Given the description of an element on the screen output the (x, y) to click on. 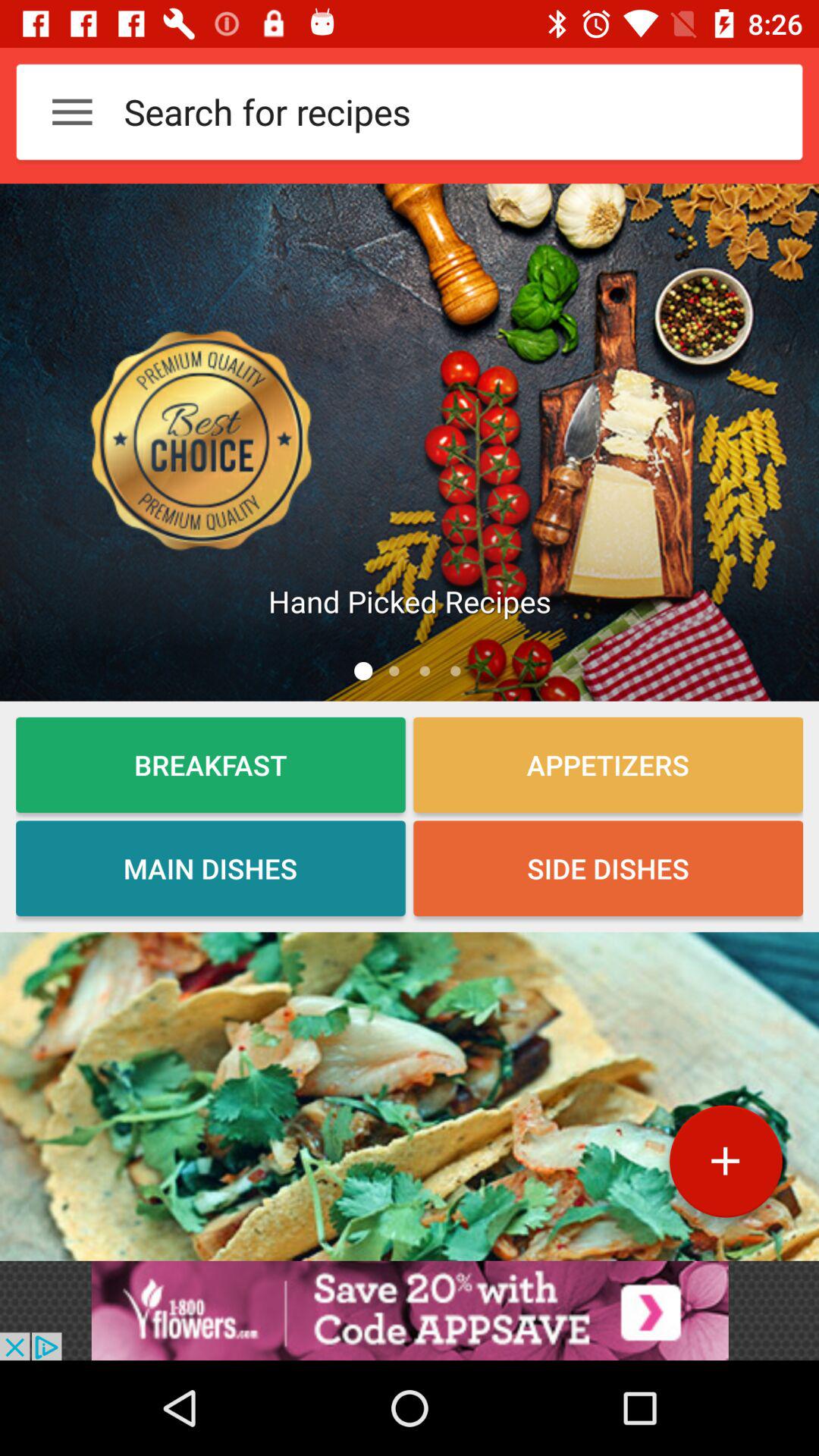
click on the 3 horizontal lines at the top left corner of the web page (72, 111)
click on the breakfast option (210, 764)
click on the appetizers option (608, 764)
click on the main dishes option (210, 868)
click on the  icon at the bottom right corner of the web page (725, 1167)
